Given the description of an element on the screen output the (x, y) to click on. 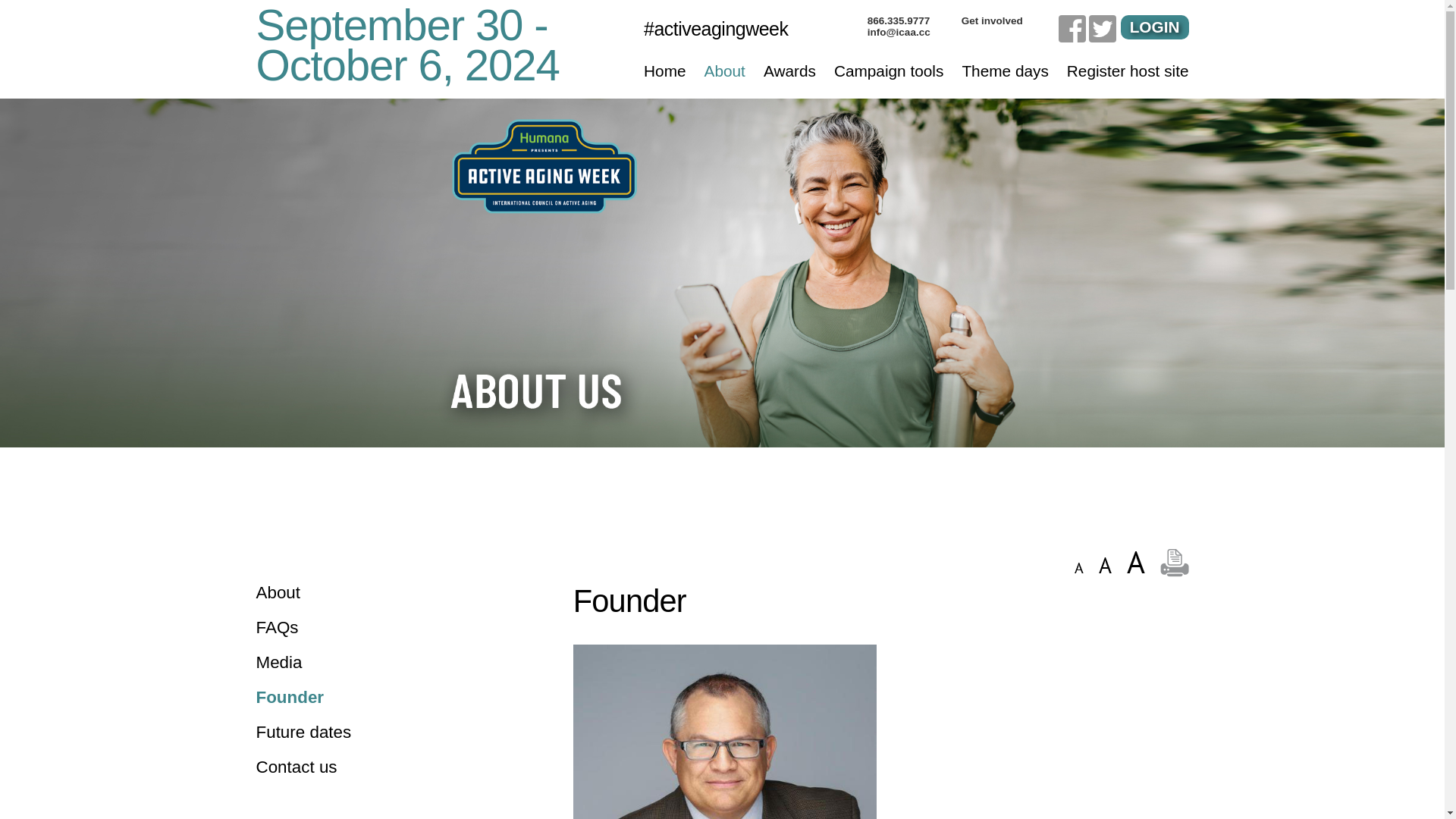
About (724, 70)
Theme days (1004, 70)
866.335.9777 (913, 20)
Founder (395, 697)
Awards (788, 70)
Media (395, 662)
Campaign tools (888, 70)
Contact us (395, 767)
About (395, 592)
Future dates (395, 732)
Register host site (1128, 70)
FAQs (395, 628)
Get involved (1007, 20)
Home (664, 70)
LOGIN (1155, 27)
